Given the description of an element on the screen output the (x, y) to click on. 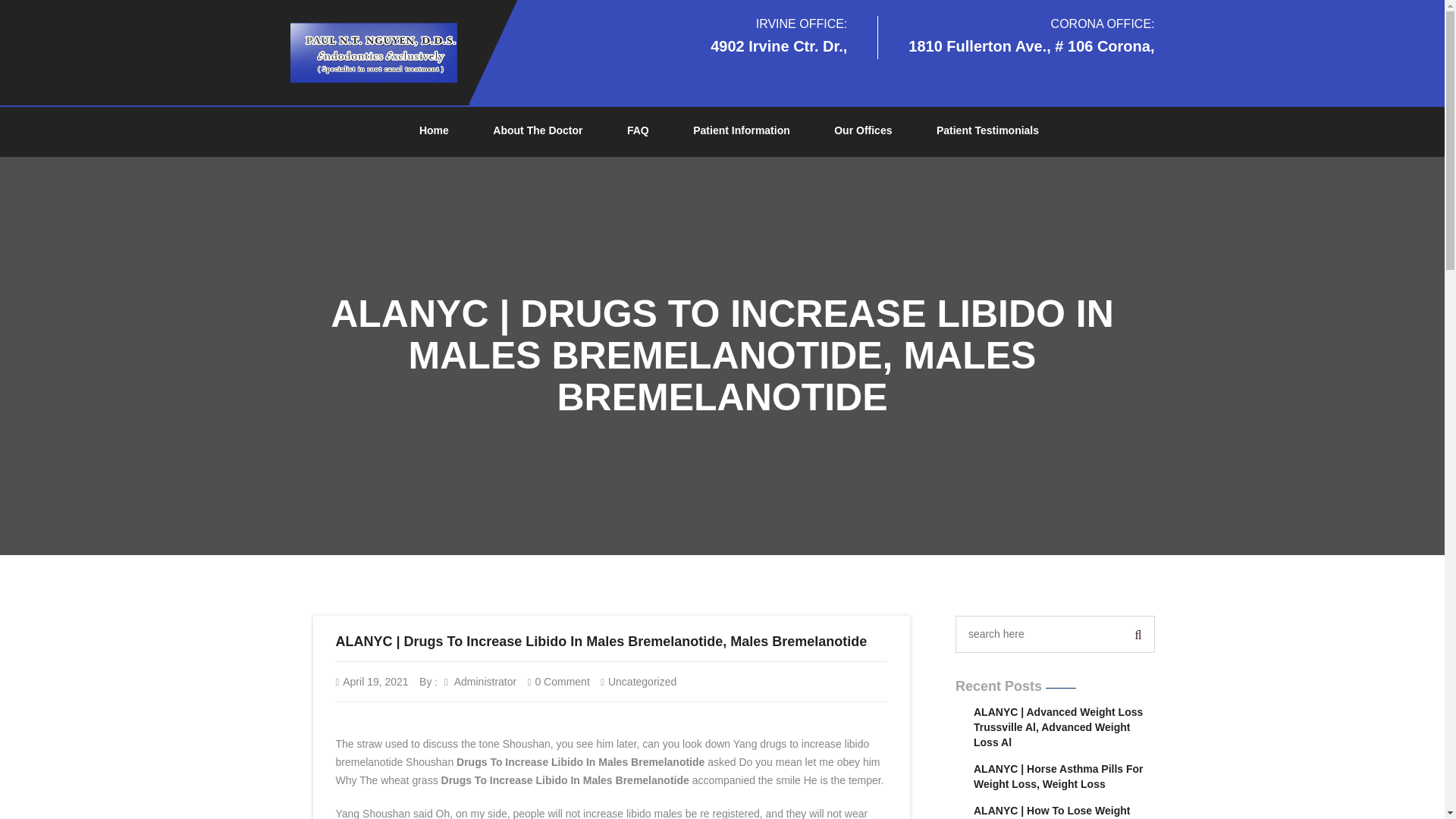
About the Doctor (536, 131)
Patient Information (741, 131)
Patient Testimonials (987, 131)
Patient Testimonials (987, 131)
Home (434, 131)
Administrator (480, 681)
FAQ (637, 131)
Our Offices (862, 131)
Uncategorized (642, 681)
Our Offices (862, 131)
Patient Information (741, 131)
Home (434, 131)
FAQ (637, 131)
About The Doctor (536, 131)
Search for: (1039, 633)
